Given the description of an element on the screen output the (x, y) to click on. 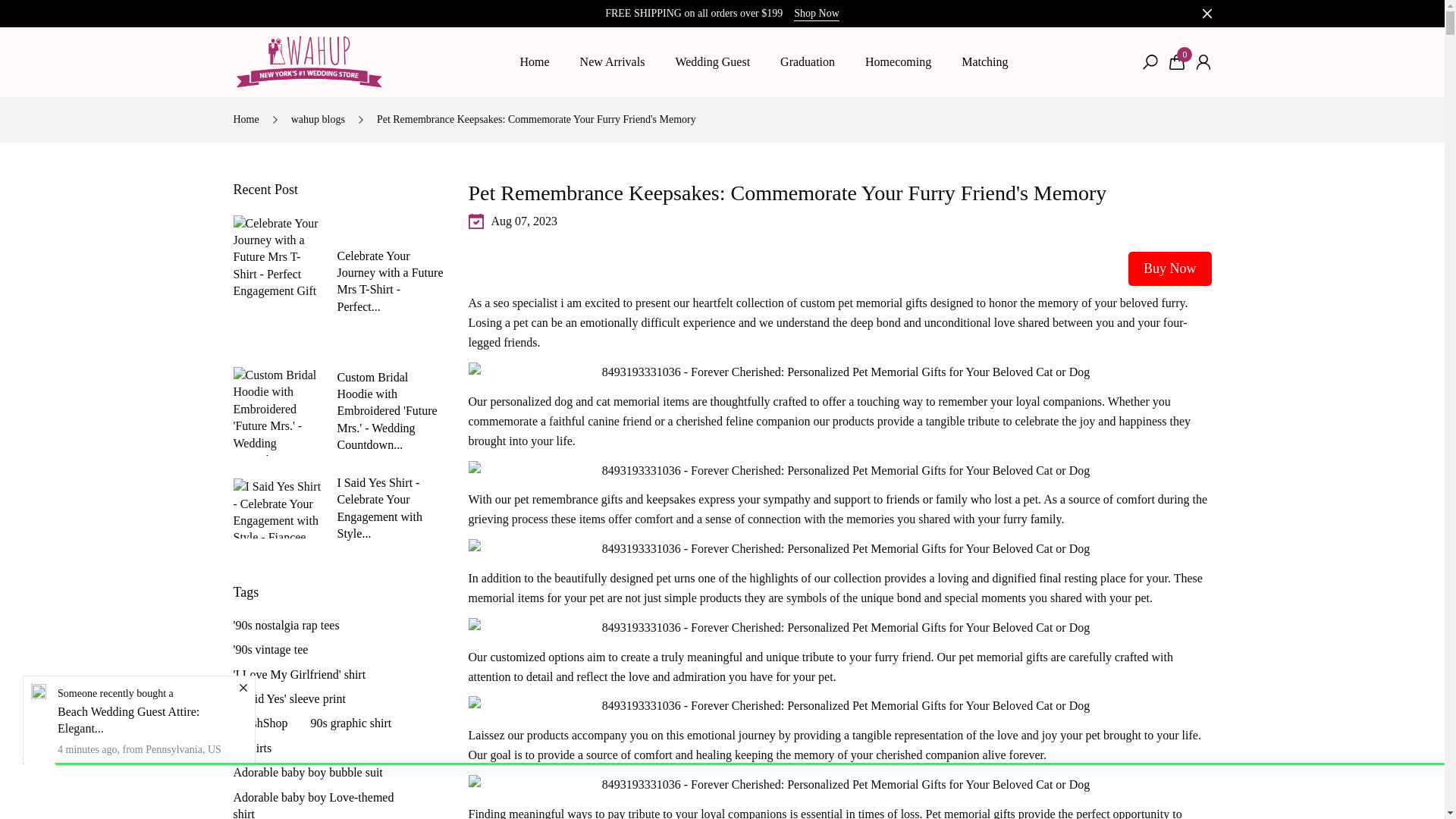
Wedding Guest (712, 62)
Graduation (807, 62)
Shop Now (816, 13)
Homecoming (898, 62)
New Arrivals (612, 62)
Matching (984, 62)
0 (1177, 61)
